Given the description of an element on the screen output the (x, y) to click on. 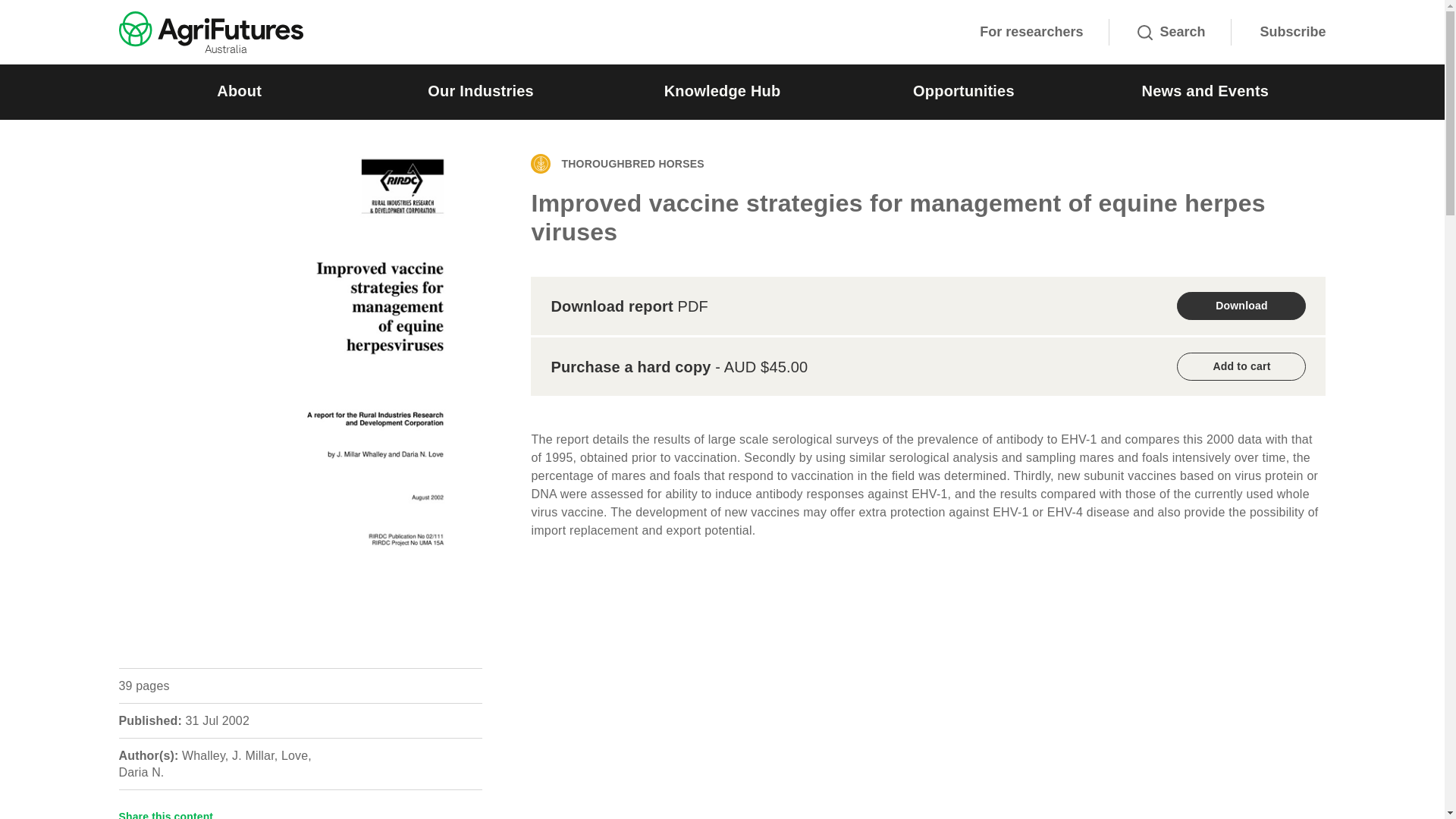
Search (1171, 31)
Subscribe (1291, 31)
Our Industries (480, 91)
Opportunities (963, 91)
For researchers (1031, 31)
About (238, 91)
Knowledge Hub (722, 91)
